Given the description of an element on the screen output the (x, y) to click on. 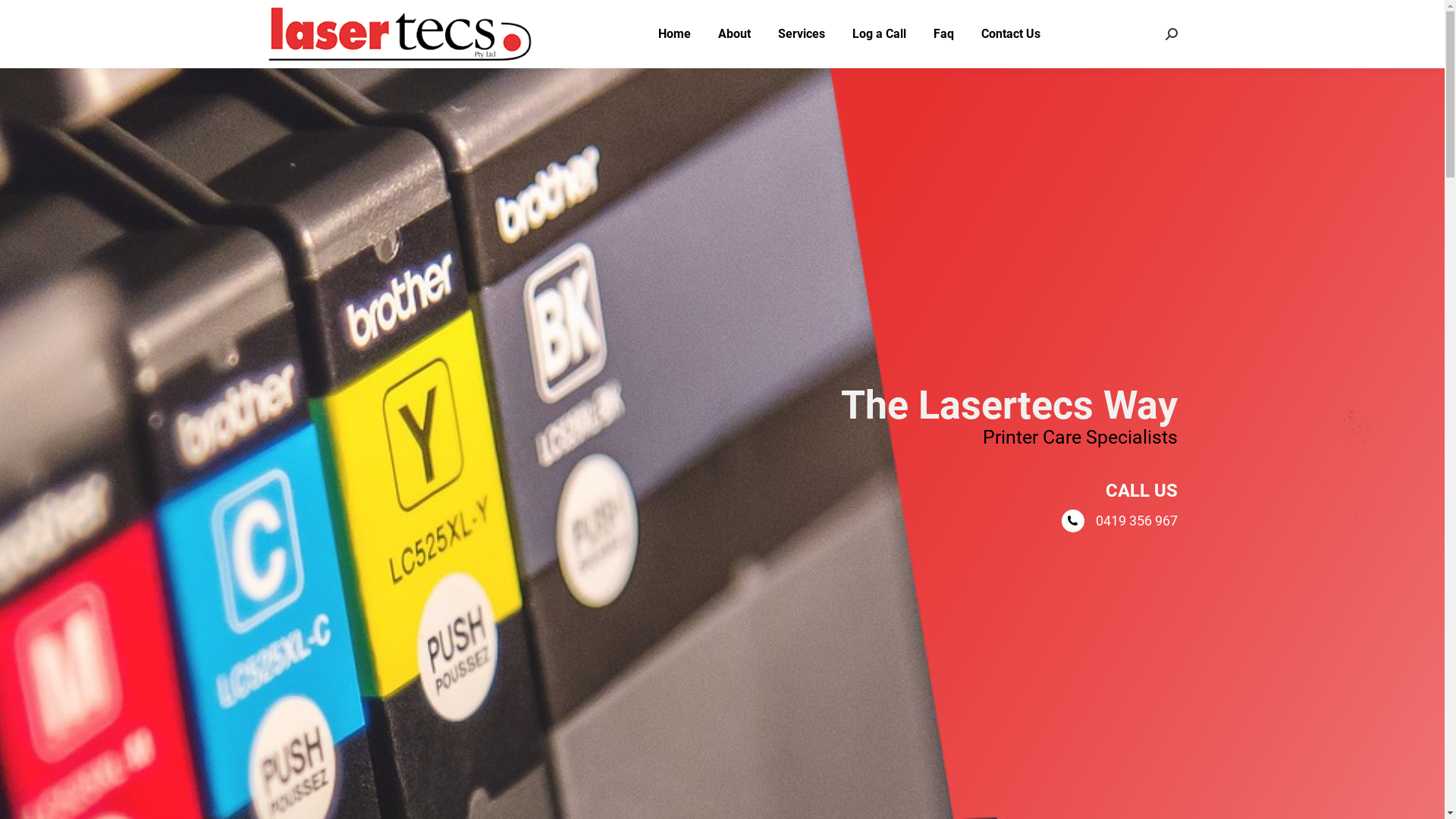
Contact Us Element type: text (1010, 33)
Go! Element type: text (23, 16)
Home Element type: text (674, 33)
About Element type: text (733, 33)
Services Element type: text (801, 33)
Faq Element type: text (942, 33)
Log a Call Element type: text (879, 33)
